Given the description of an element on the screen output the (x, y) to click on. 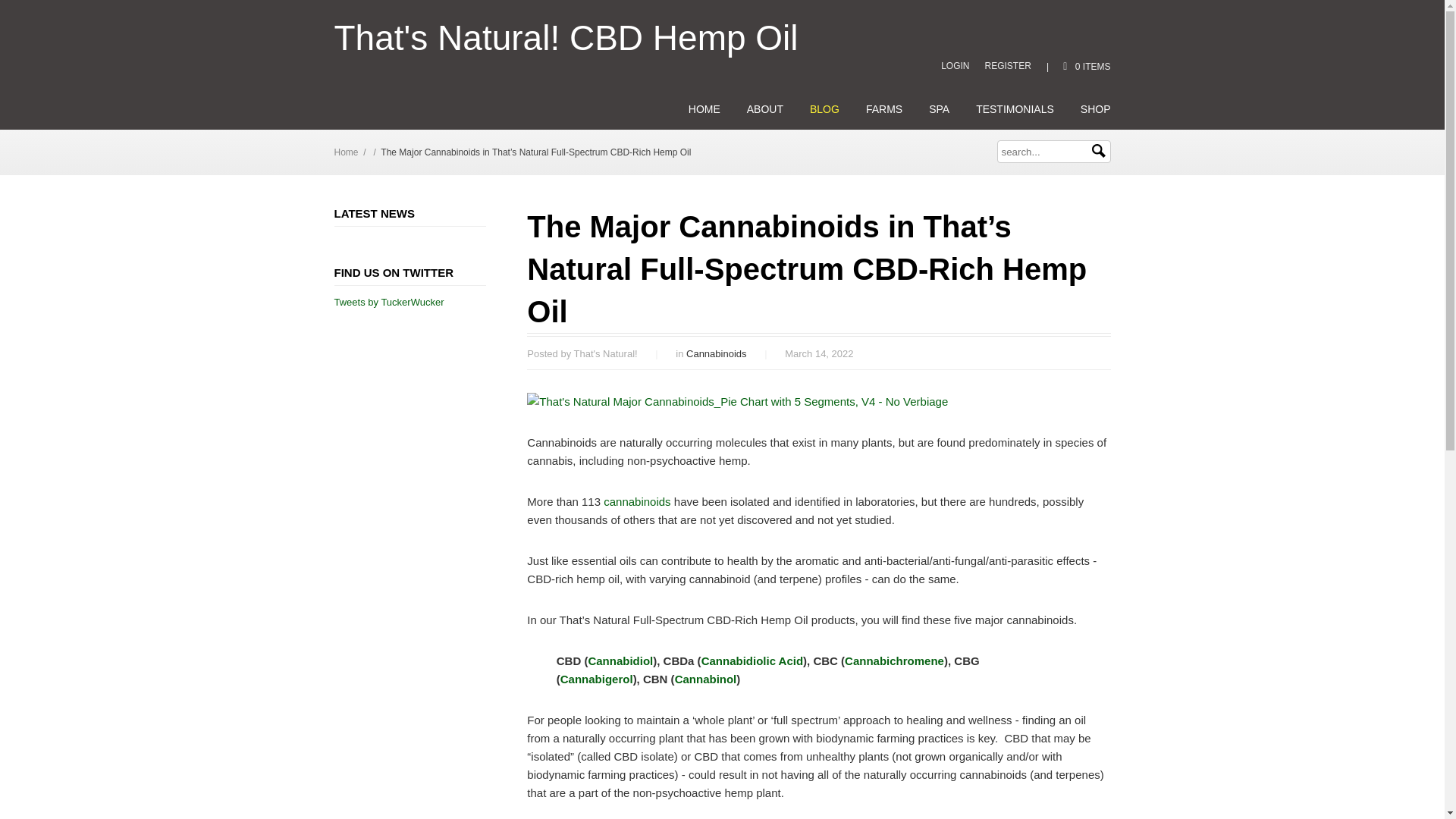
That's Natural! CBD Hemp Oil (565, 37)
Search (1098, 151)
Cannabichromene (893, 660)
SHOP (1095, 109)
HOME (704, 109)
REGISTER (1007, 65)
Cannabidiolic Acid (752, 660)
Cannabinol (705, 678)
